Given the description of an element on the screen output the (x, y) to click on. 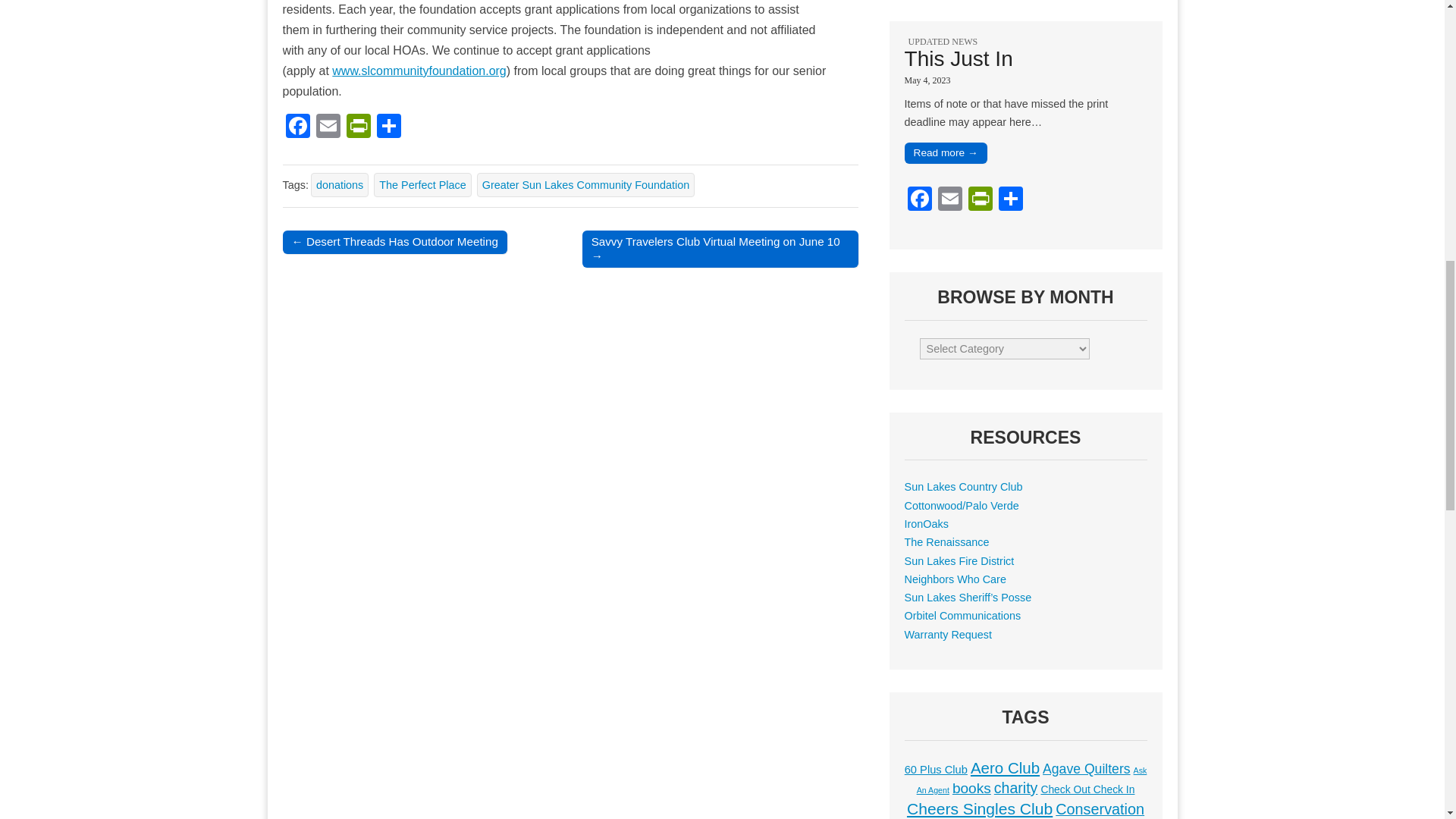
Email (327, 127)
PrintFriendly (357, 127)
Email (949, 200)
Facebook (919, 200)
PrintFriendly (980, 200)
Facebook (297, 127)
